Given the description of an element on the screen output the (x, y) to click on. 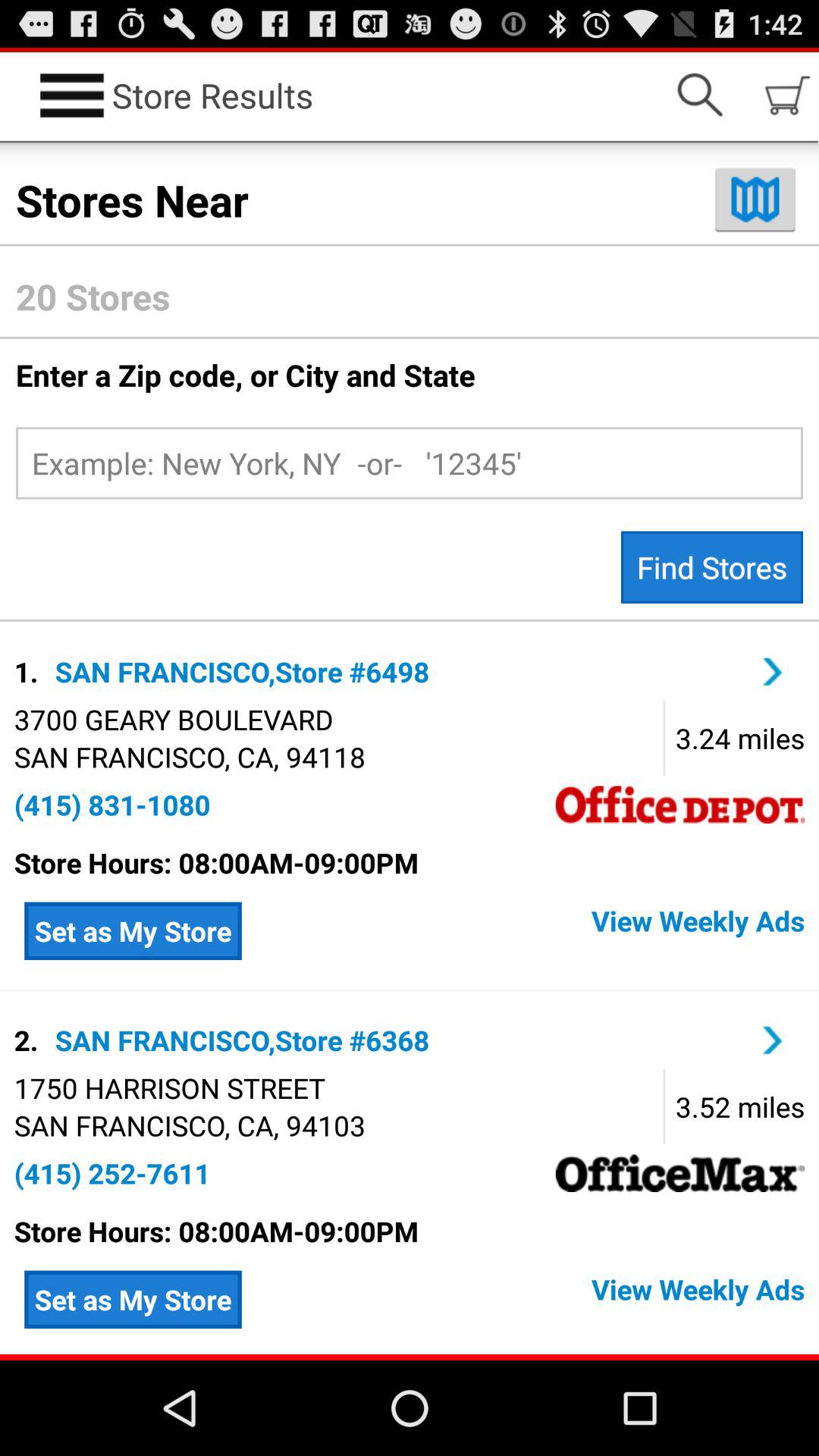
next option (772, 1040)
